Given the description of an element on the screen output the (x, y) to click on. 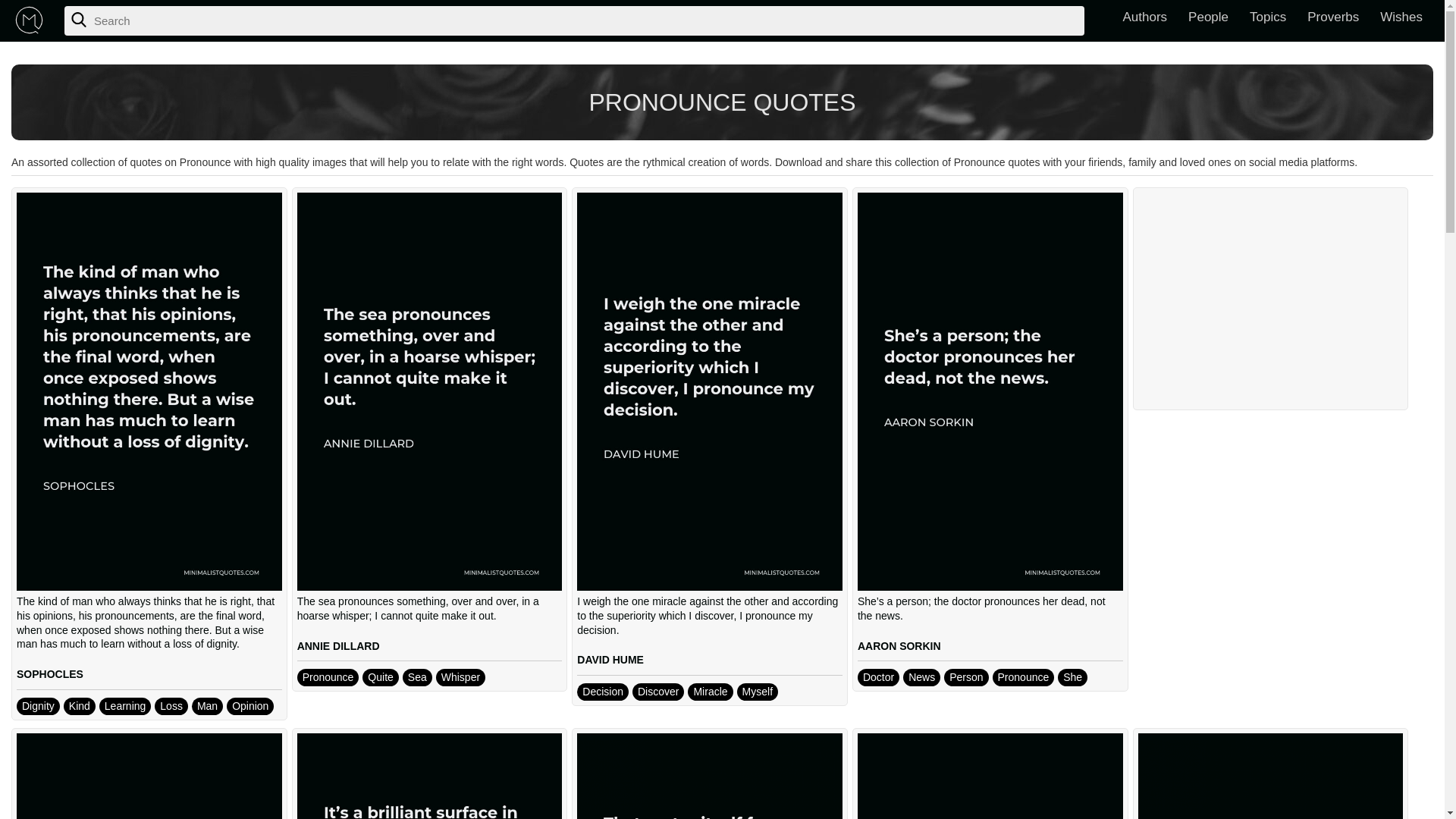
Learning (125, 705)
Proverbs (1333, 18)
Pronounce (328, 677)
Wishes (1401, 18)
SOPHOCLES (49, 674)
Man (207, 705)
Topics (1268, 18)
Kind (80, 705)
People (1208, 18)
Loss (170, 705)
ANNIE DILLARD (338, 645)
Sea (417, 677)
Whisper (459, 677)
Quite (379, 677)
Authors (1144, 18)
